Given the description of an element on the screen output the (x, y) to click on. 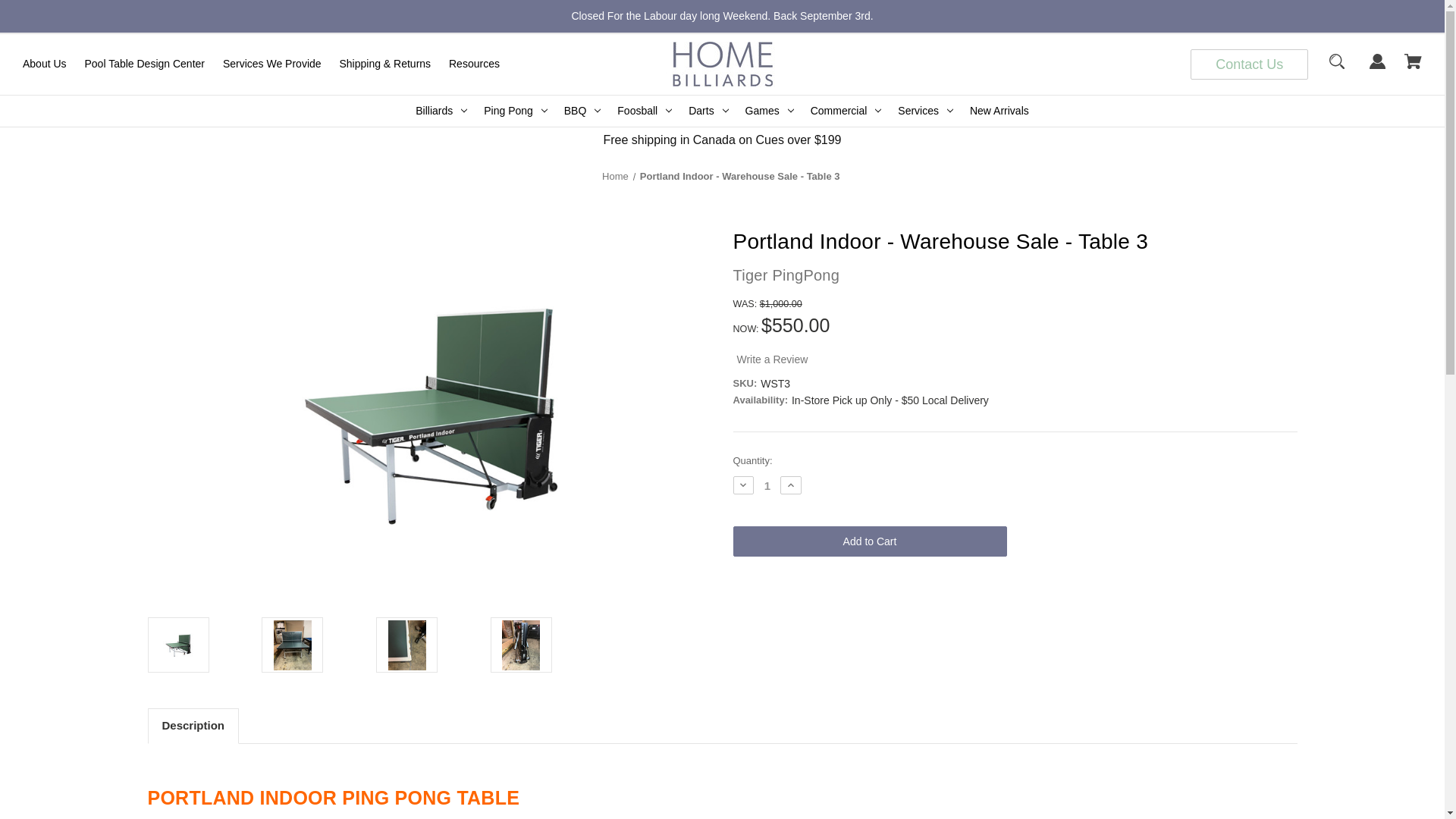
MAGNIFYING GLASS IMAGE LARGE RED CIRCLE WITH A BLACK BORDER (1336, 67)
Ping Pong (516, 110)
Home Billiards sales (721, 63)
About Us (44, 64)
1 (767, 485)
Email (983, 596)
Pinterest (1081, 596)
Billiards (441, 110)
BBQ (583, 110)
Facebook (950, 596)
